Given the description of an element on the screen output the (x, y) to click on. 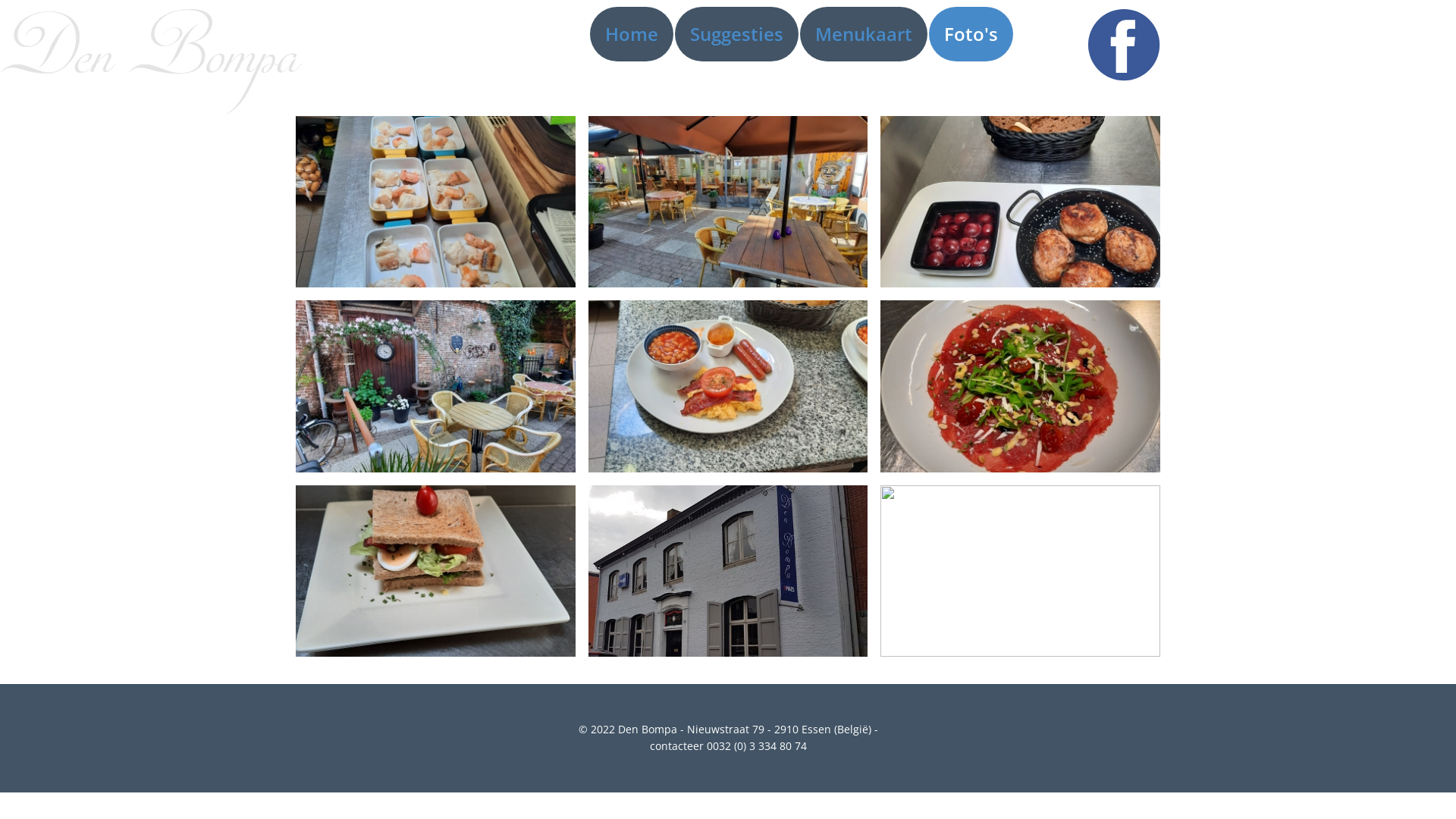
Suggesties Element type: text (736, 33)
Foto's Element type: text (970, 33)
Menukaart Element type: text (863, 33)
Home Element type: text (631, 33)
facebook Element type: hover (1123, 44)
